Given the description of an element on the screen output the (x, y) to click on. 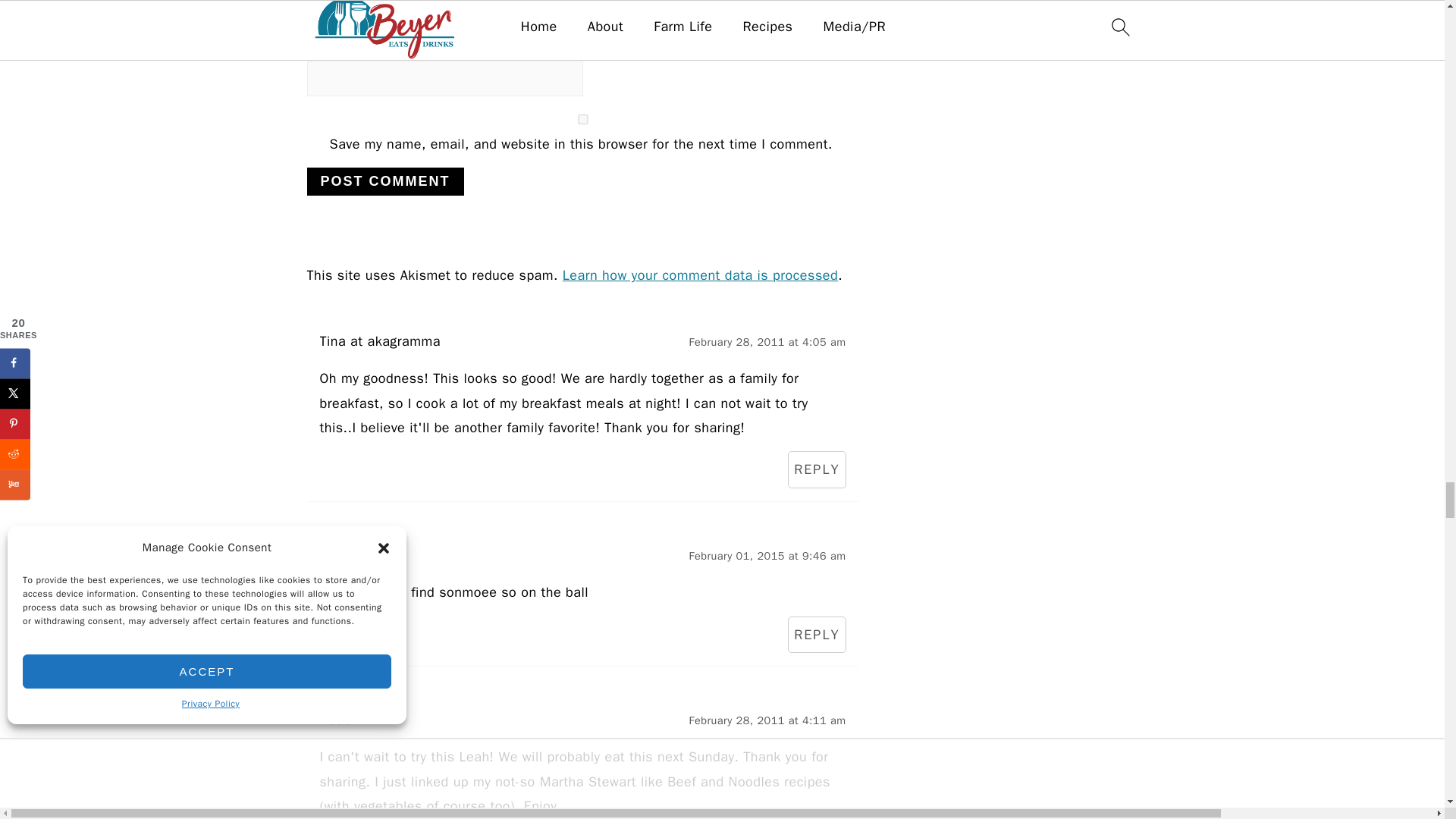
yes (582, 119)
Post Comment (384, 181)
